Given the description of an element on the screen output the (x, y) to click on. 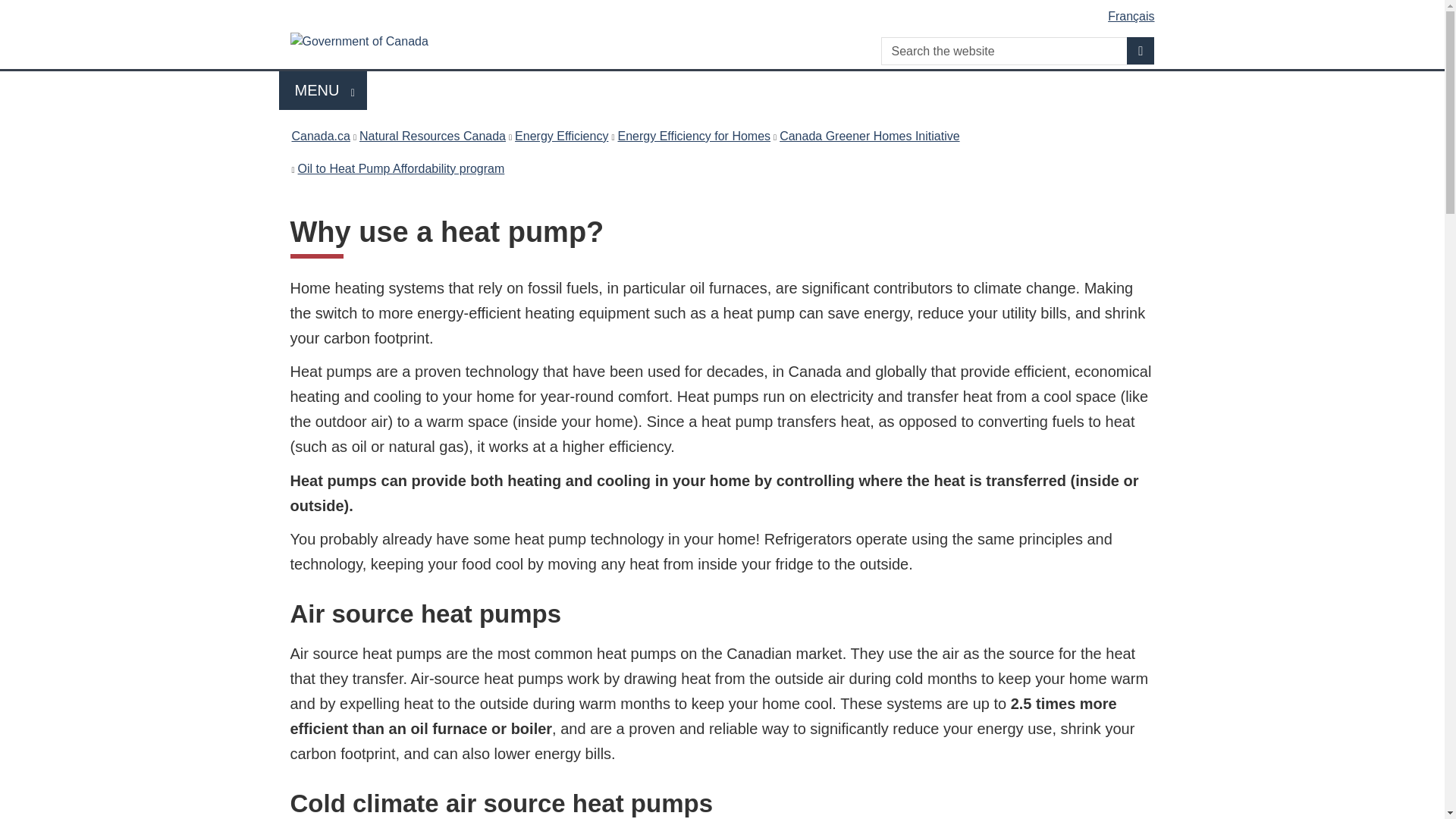
Skip to main content (725, 11)
Energy Efficiency (322, 90)
Energy Efficiency for Homes (561, 136)
Oil to Heat Pump Affordability program (693, 136)
Search (401, 168)
Canada.ca (1140, 50)
Natural Resources Canada (320, 136)
Canada Greener Homes Initiative (432, 136)
Pourquoi utiliser une thermopompe?  (868, 136)
